Given the description of an element on the screen output the (x, y) to click on. 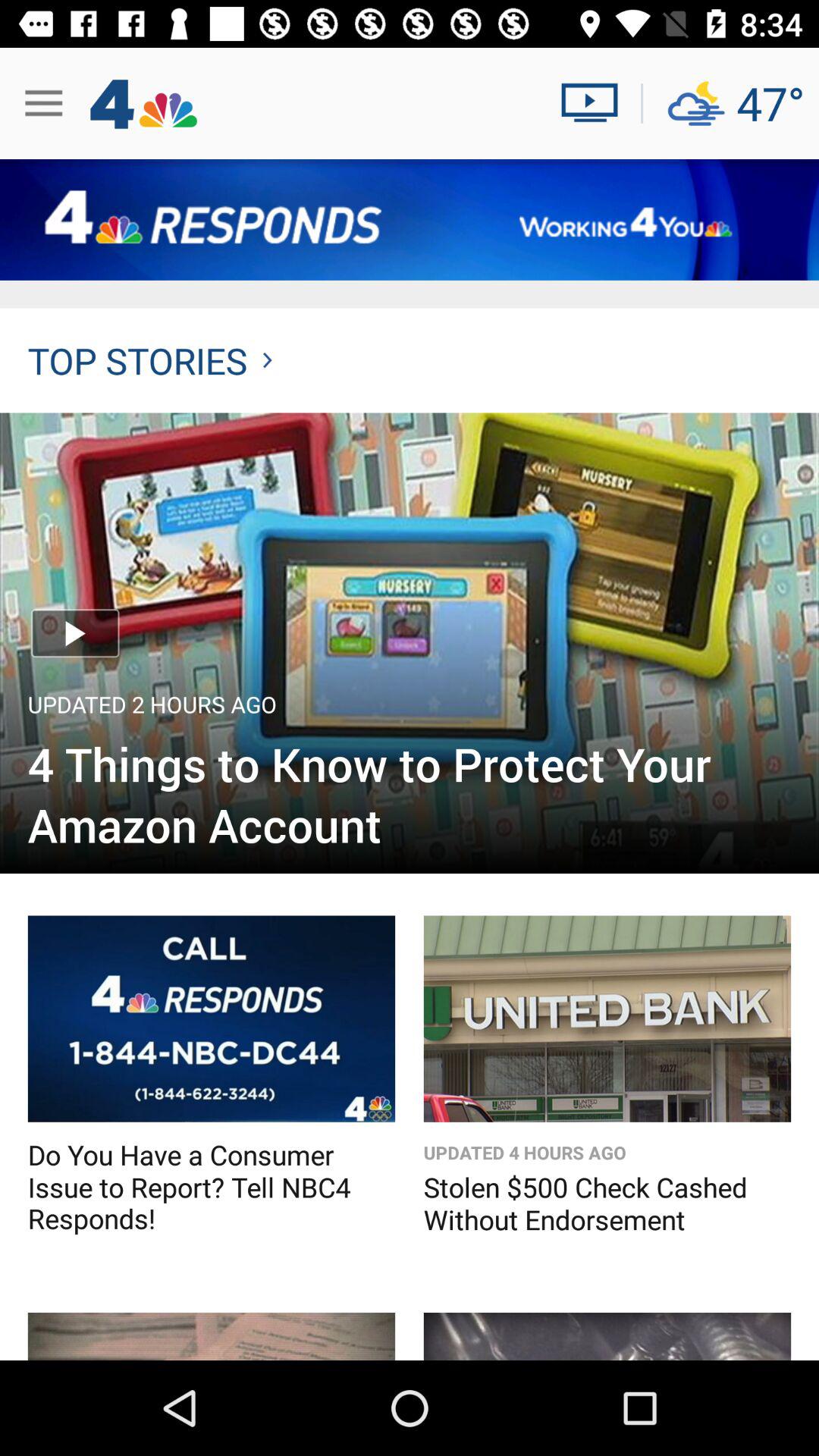
click to more details (211, 1018)
